Given the description of an element on the screen output the (x, y) to click on. 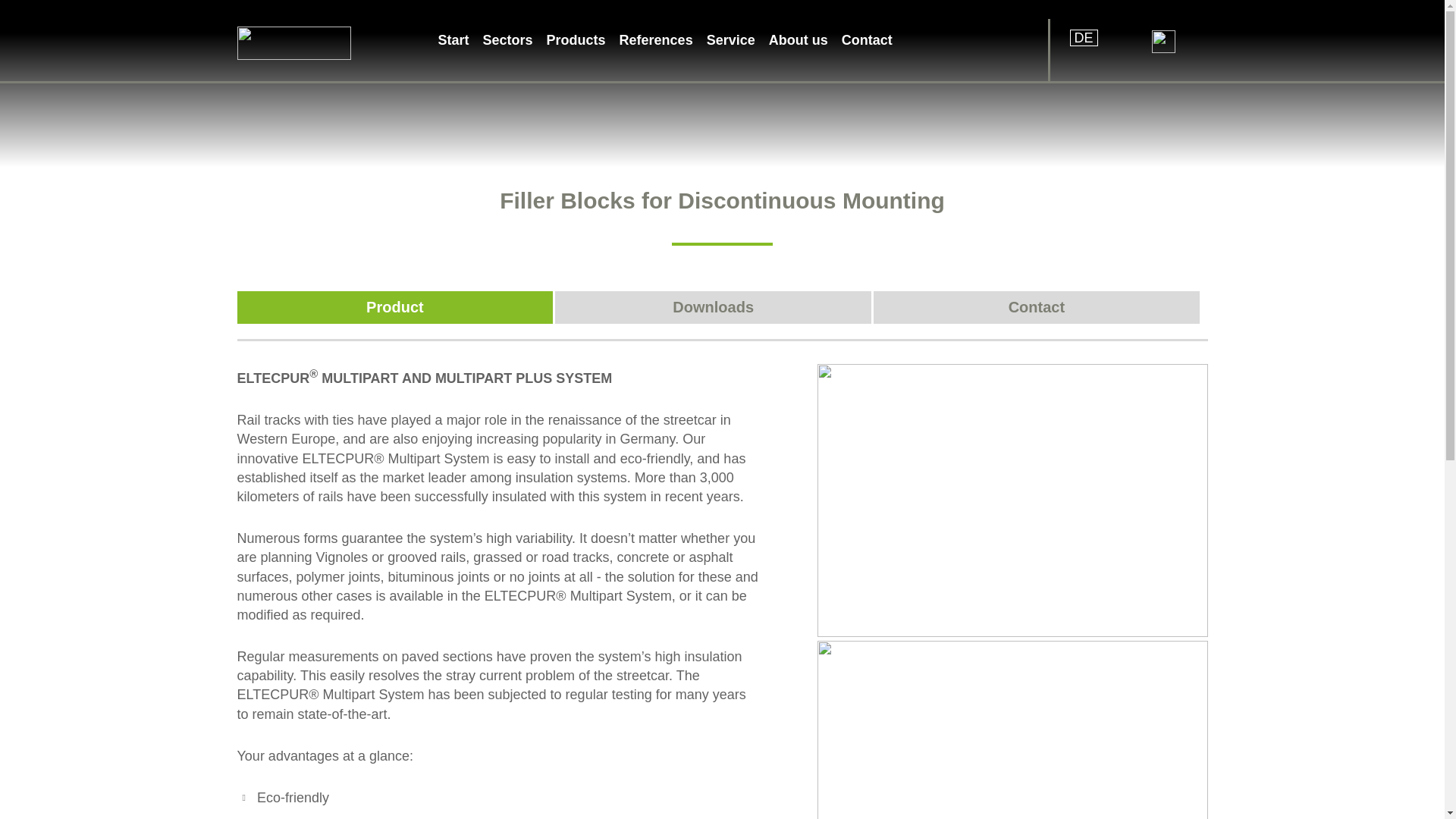
Products (576, 49)
Sectors (508, 49)
Overview of our areas of application (508, 49)
